Given the description of an element on the screen output the (x, y) to click on. 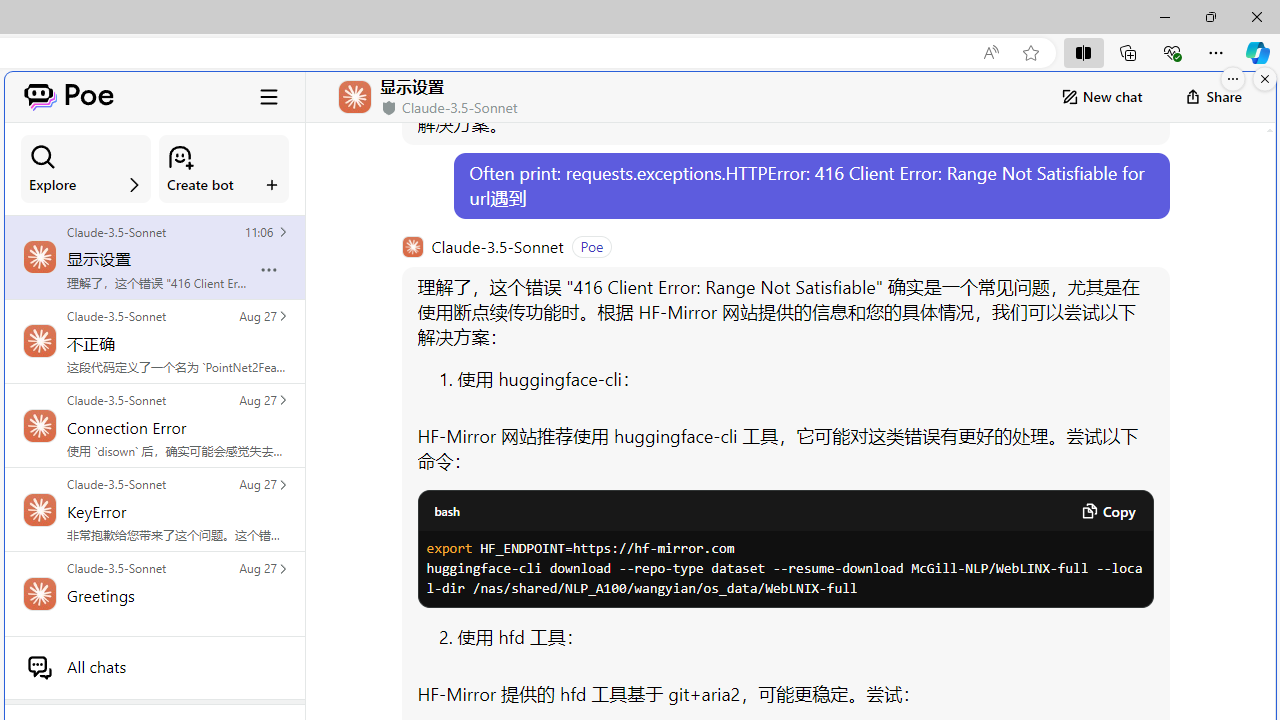
More actions (269, 269)
Copilot (Ctrl+Shift+.) (1258, 52)
Class: ChatPrivacyIndicator_shieldIcon__4JelG (389, 108)
Read aloud this page (Ctrl+Shift+U) (991, 53)
All chats (154, 667)
